Given the description of an element on the screen output the (x, y) to click on. 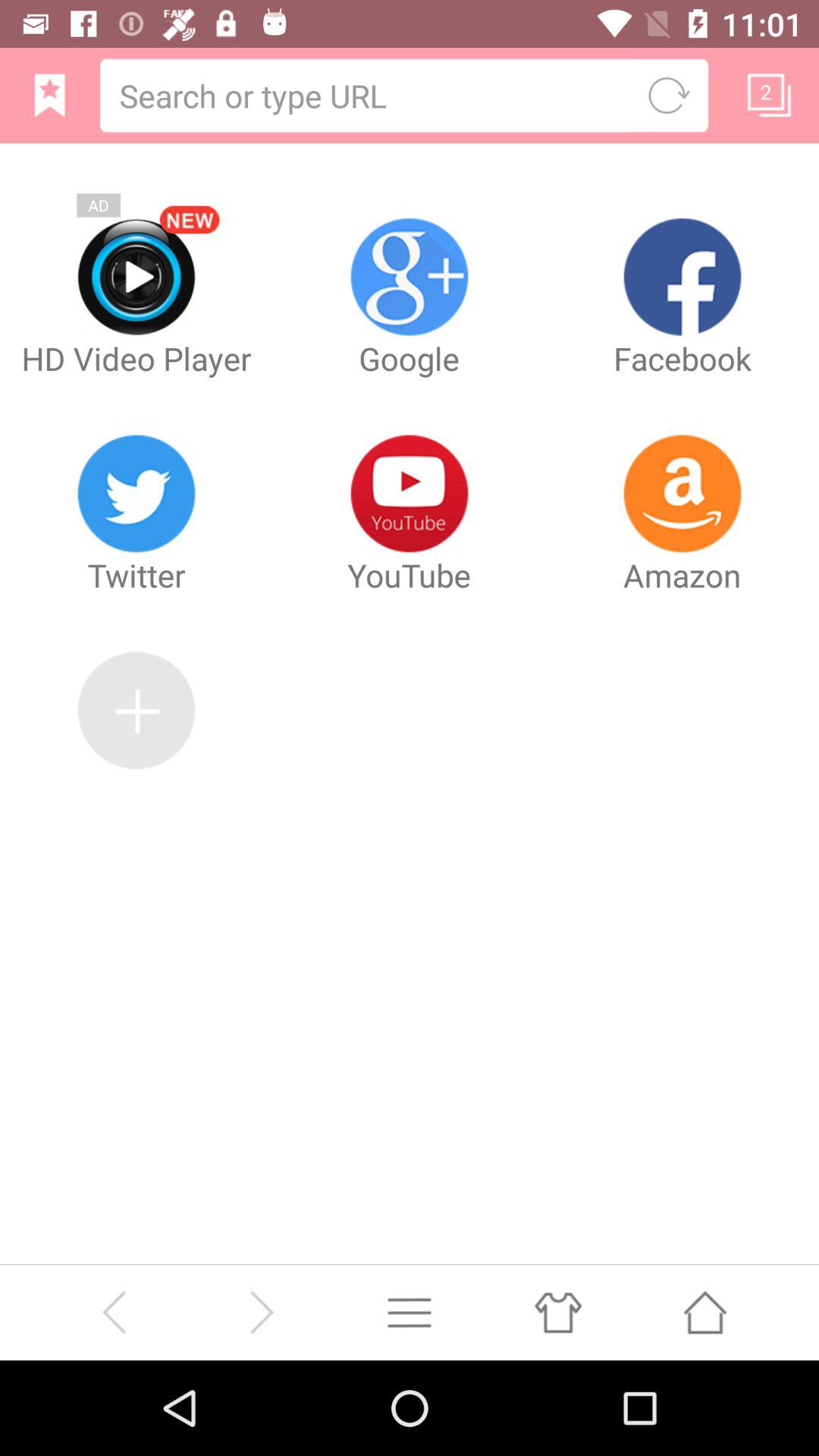
go back to last page (113, 1312)
